Given the description of an element on the screen output the (x, y) to click on. 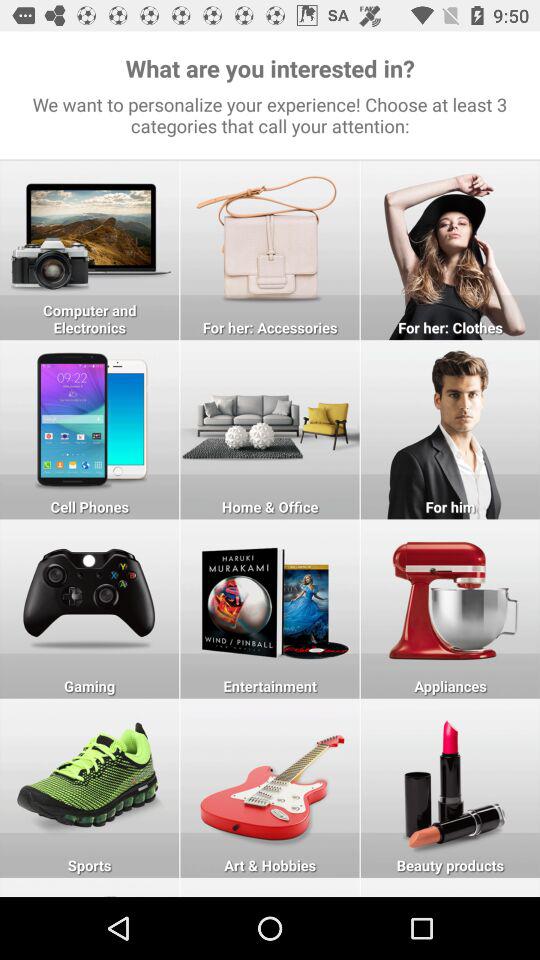
click to move button (89, 887)
